Given the description of an element on the screen output the (x, y) to click on. 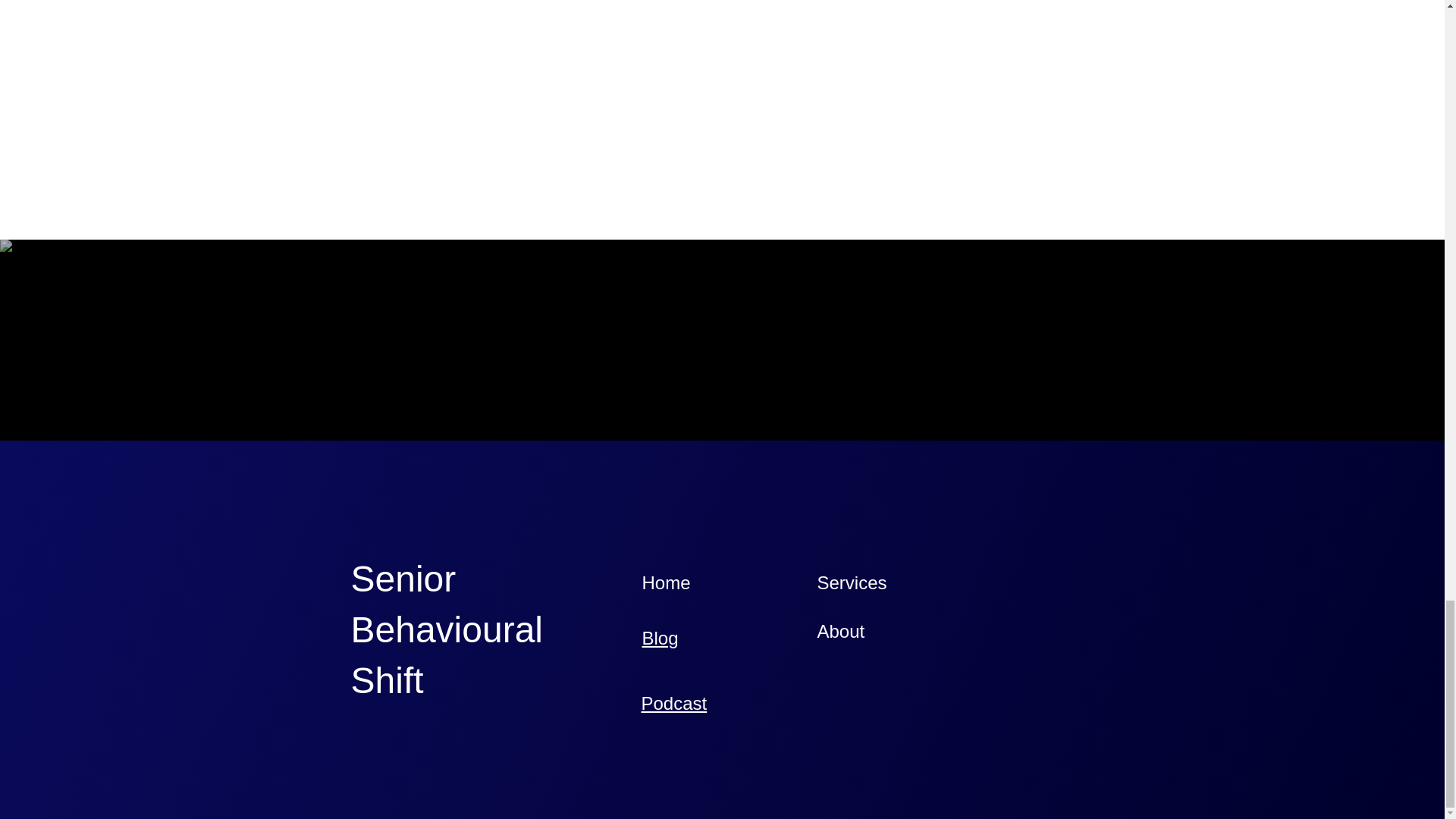
Services (851, 582)
About (840, 630)
Blog (660, 638)
Home (666, 582)
Podcast (674, 702)
